Given the description of an element on the screen output the (x, y) to click on. 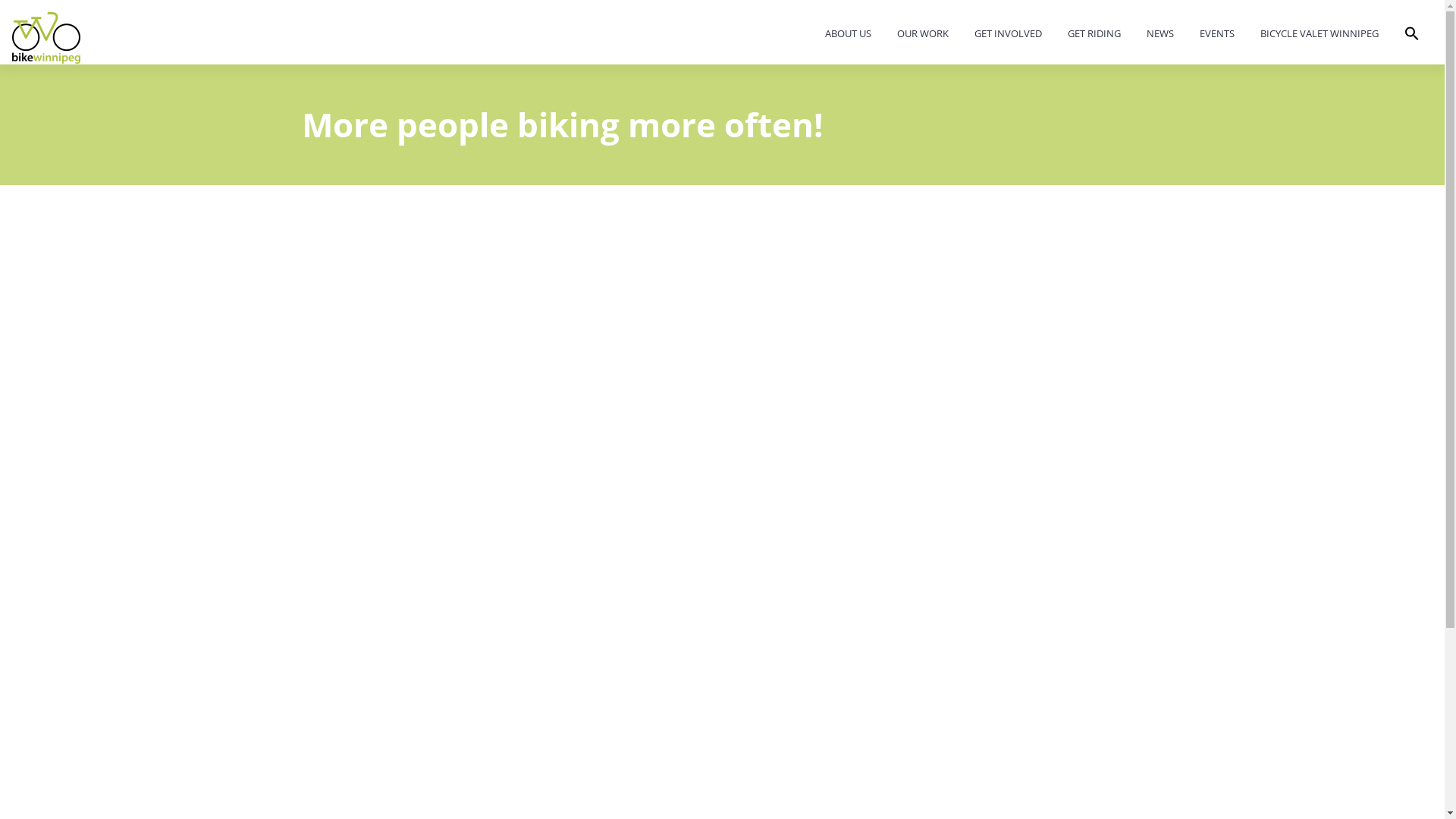
NEWS Element type: text (1159, 35)
BICYCLE VALET WINNIPEG Element type: text (1319, 35)
Bike Winnipeg Element type: hover (46, 37)
EVENTS Element type: text (1216, 35)
GET RIDING Element type: text (1093, 35)
OUR WORK Element type: text (922, 35)
ABOUT US Element type: text (848, 35)
GET INVOLVED Element type: text (1007, 35)
